Given the description of an element on the screen output the (x, y) to click on. 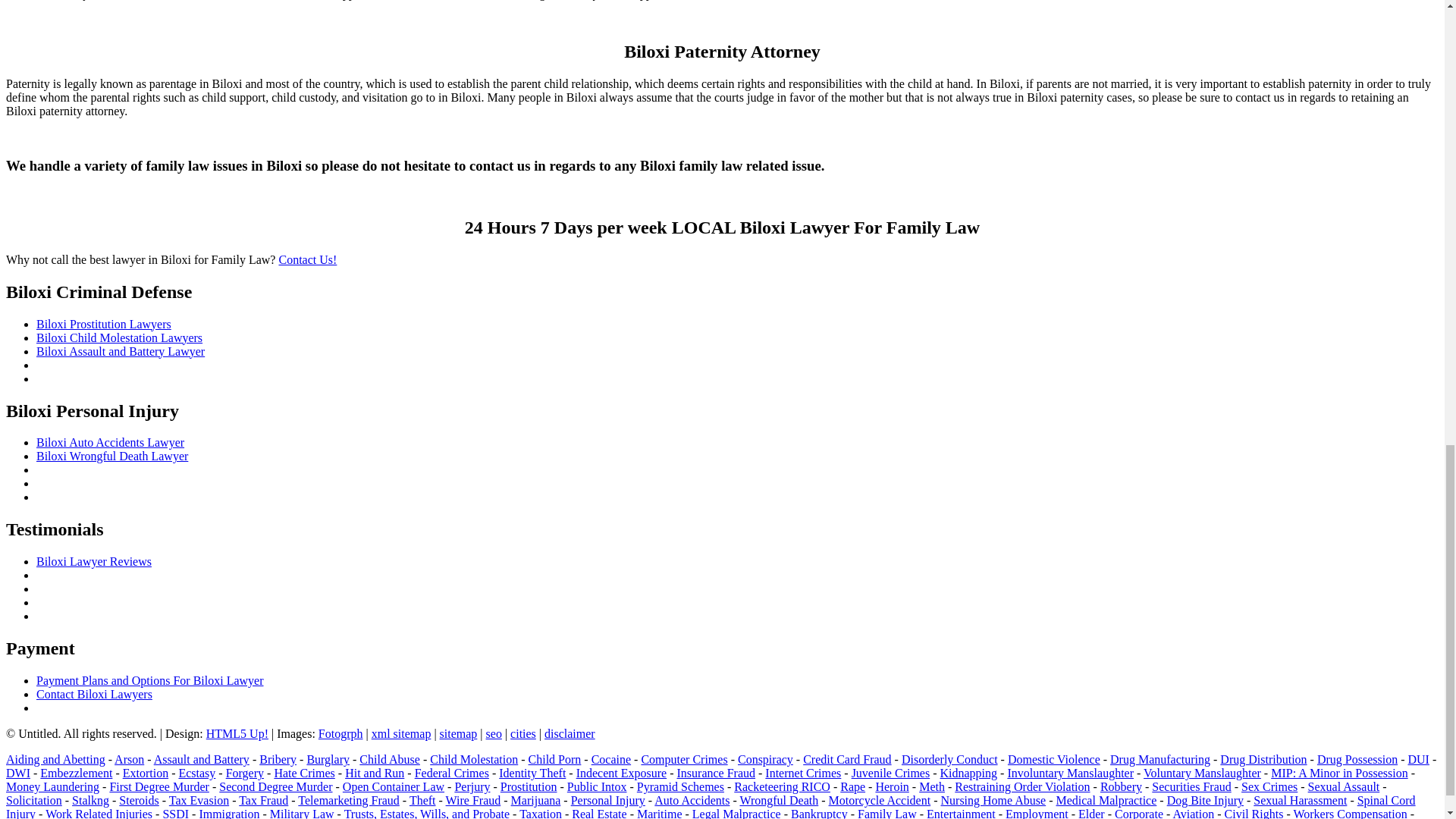
Conspiracy (765, 758)
Child Molestation (473, 758)
Fotogrph (340, 733)
Biloxi Prostitution Lawyers (103, 323)
Bribery (278, 758)
Burglary (327, 758)
Assault and Battery (201, 758)
seo (494, 733)
Child Abuse (389, 758)
xml sitemap (400, 733)
